Given the description of an element on the screen output the (x, y) to click on. 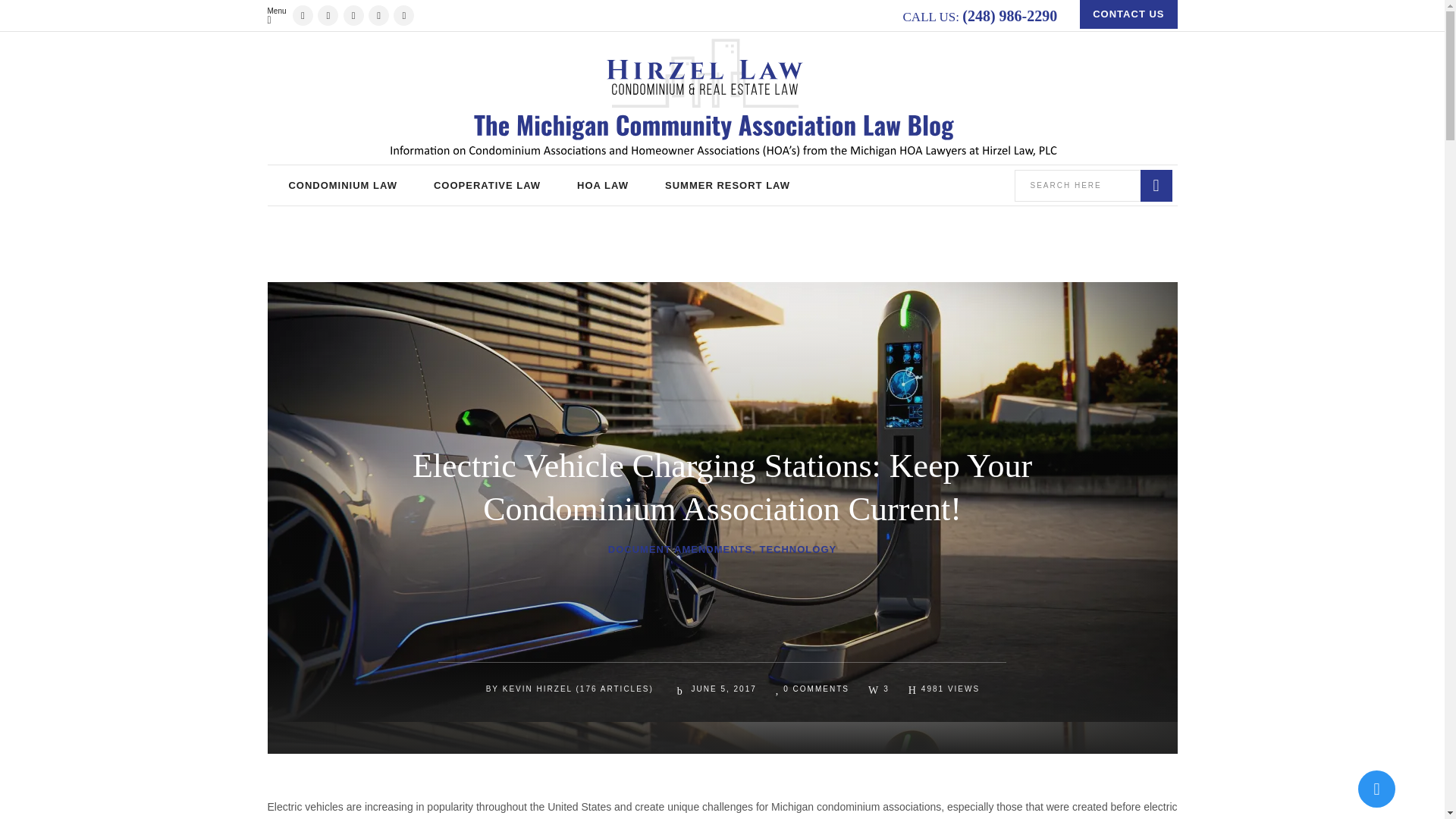
Like this (878, 688)
CONDOMINIUM LAW (341, 185)
CONTACT US (1128, 14)
HOA LAW (602, 185)
COOPERATIVE LAW (486, 185)
